Given the description of an element on the screen output the (x, y) to click on. 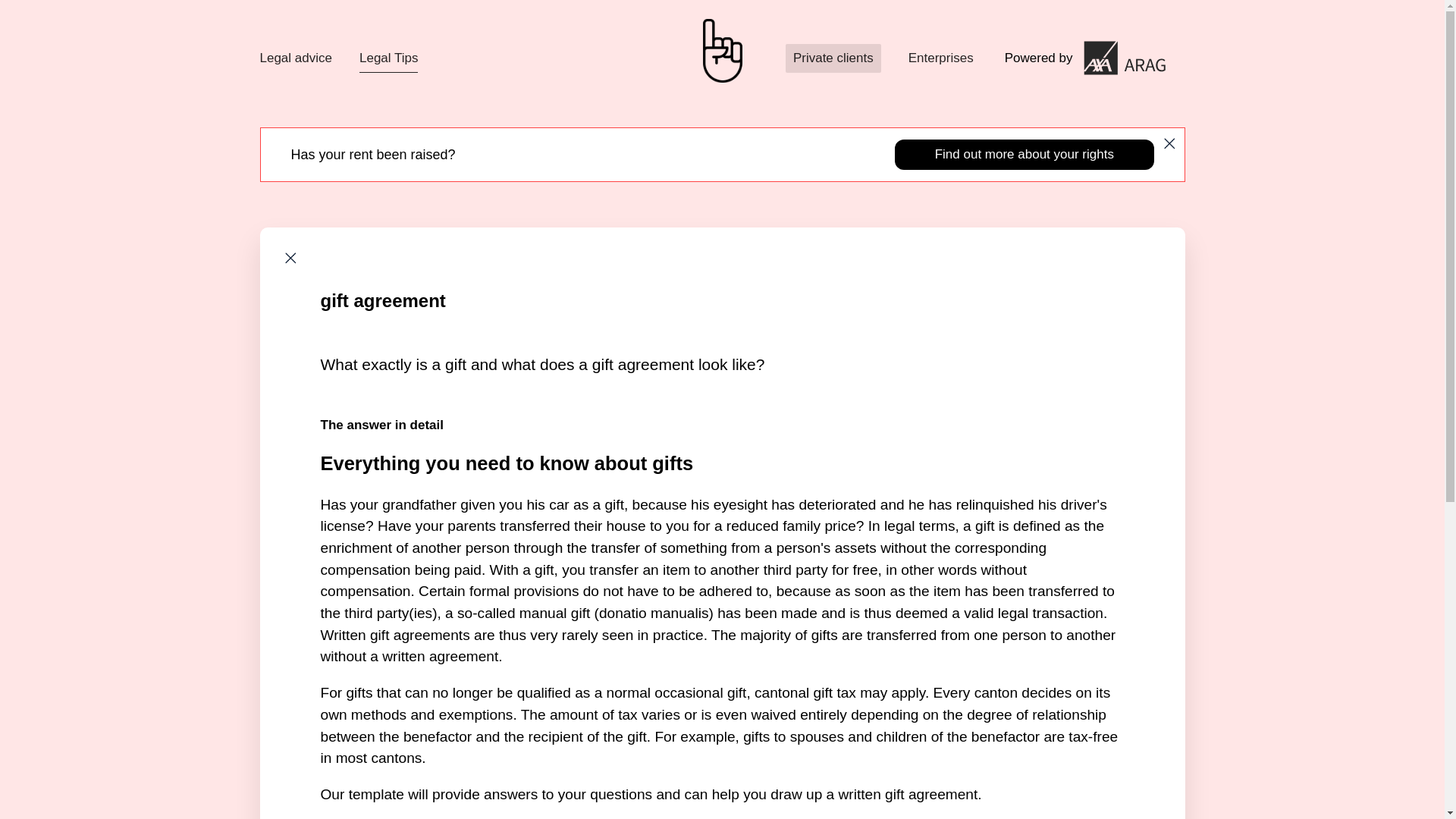
Private clients (833, 58)
Enterprises (941, 58)
Legal Tips (389, 58)
Find out more about your rights (1024, 154)
Legal advice (295, 58)
